Given the description of an element on the screen output the (x, y) to click on. 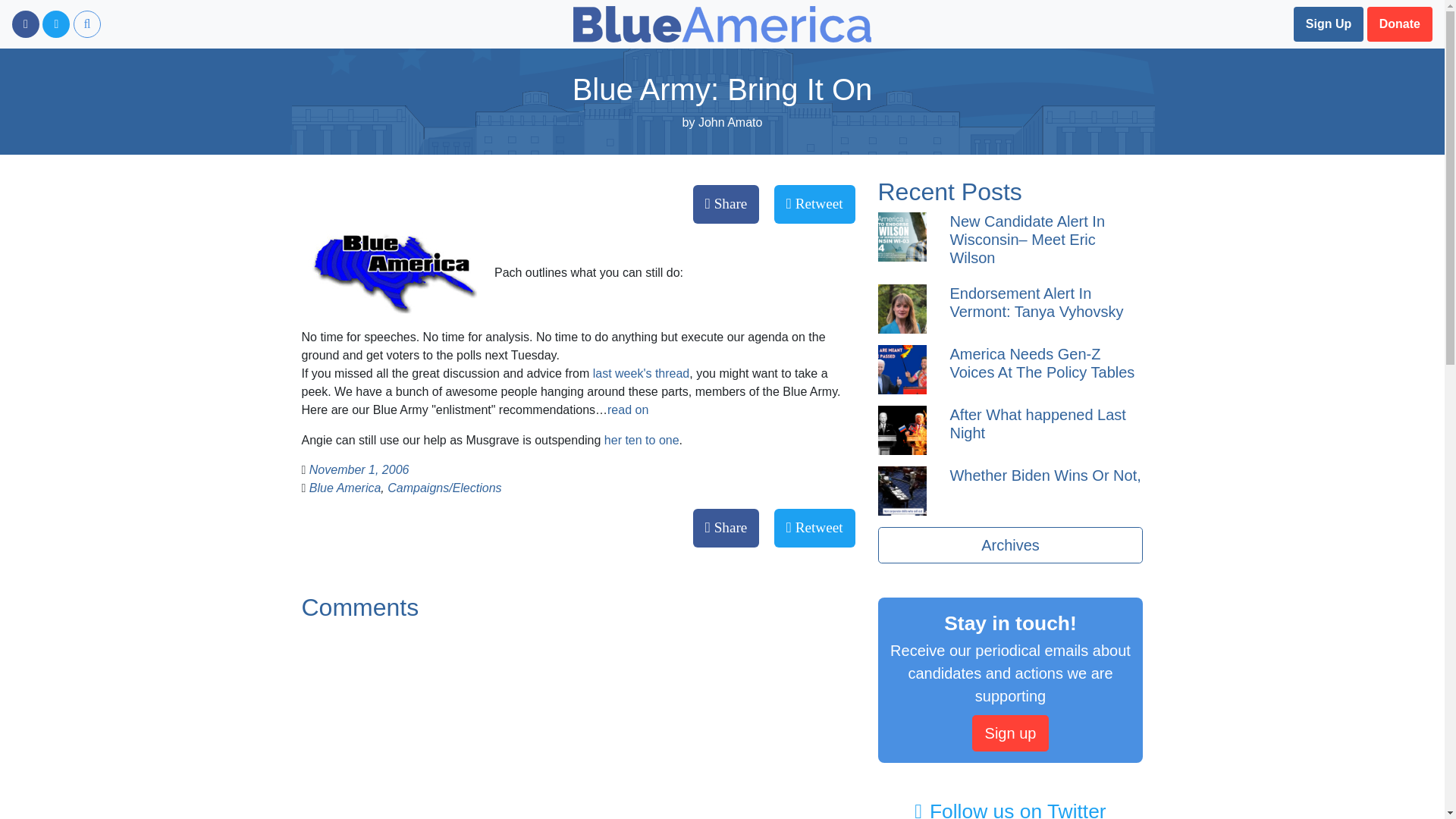
Sign up (1010, 732)
Share on Facebook (726, 527)
Follow us on Twitter (55, 23)
Support our candidates (1399, 23)
John Amato (730, 122)
America Needs Gen-Z Voices At The Policy Tables (1041, 362)
blueamerica.jpg (398, 272)
Whether Biden Wins Or Not, (1044, 475)
November 1, 2006 (358, 469)
Retweet (815, 527)
